Given the description of an element on the screen output the (x, y) to click on. 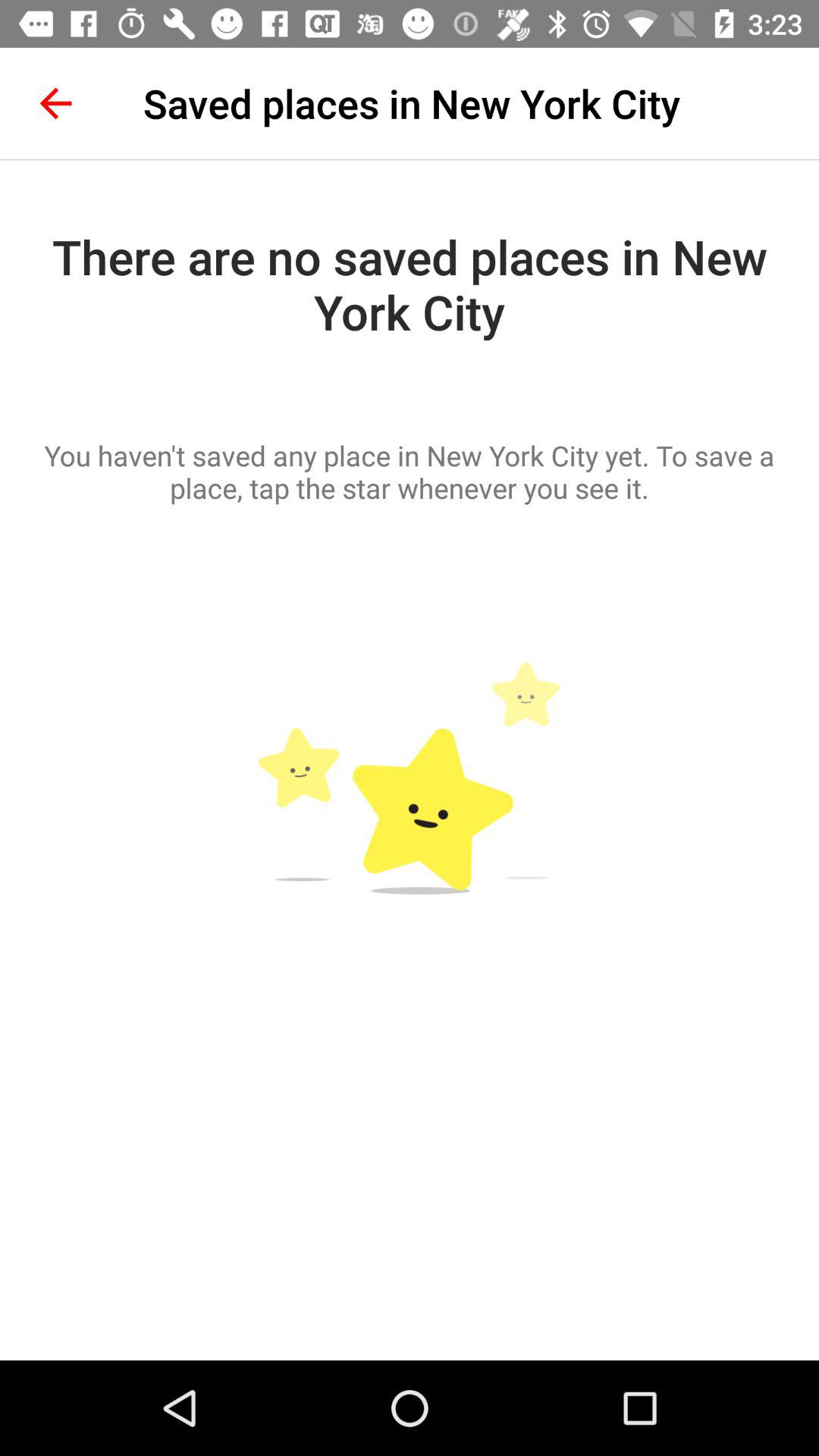
launch the icon to the left of the saved places in icon (55, 103)
